Given the description of an element on the screen output the (x, y) to click on. 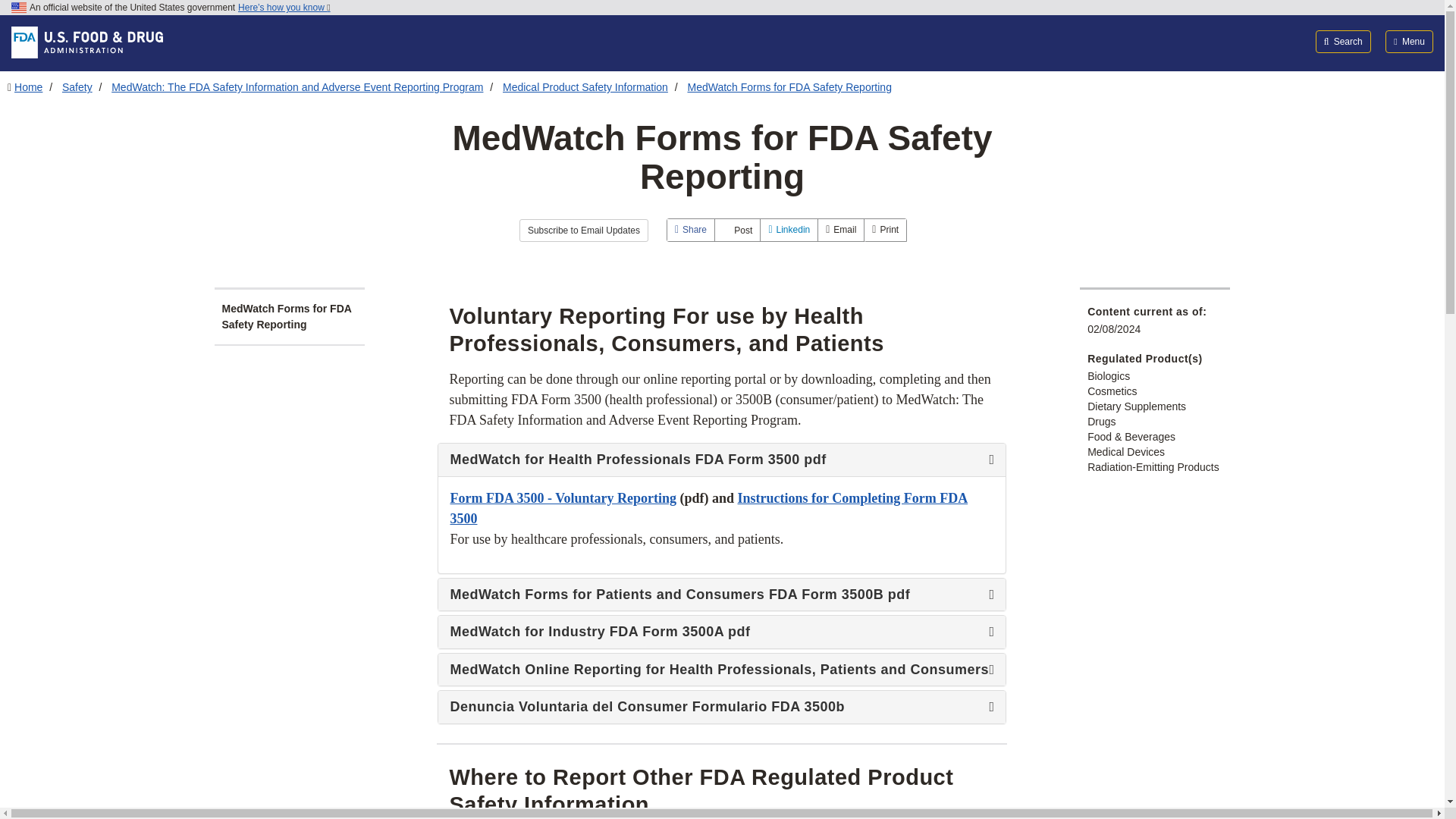
  Search (1343, 41)
MedWatch for Health Professionals FDA Form 3500 pdf (722, 508)
  Menu (1409, 41)
MedWatch Forms for Patients and Consumers FDA Form 3500B pdf (722, 594)
MedWatch for Industry FDA Form 3500A pdf (722, 632)
Denuncia Voluntaria del Consumer Formulario FDA 3500b (722, 706)
Print this page (884, 229)
Instructions for Completing Form FDA 3500 (708, 508)
